Given the description of an element on the screen output the (x, y) to click on. 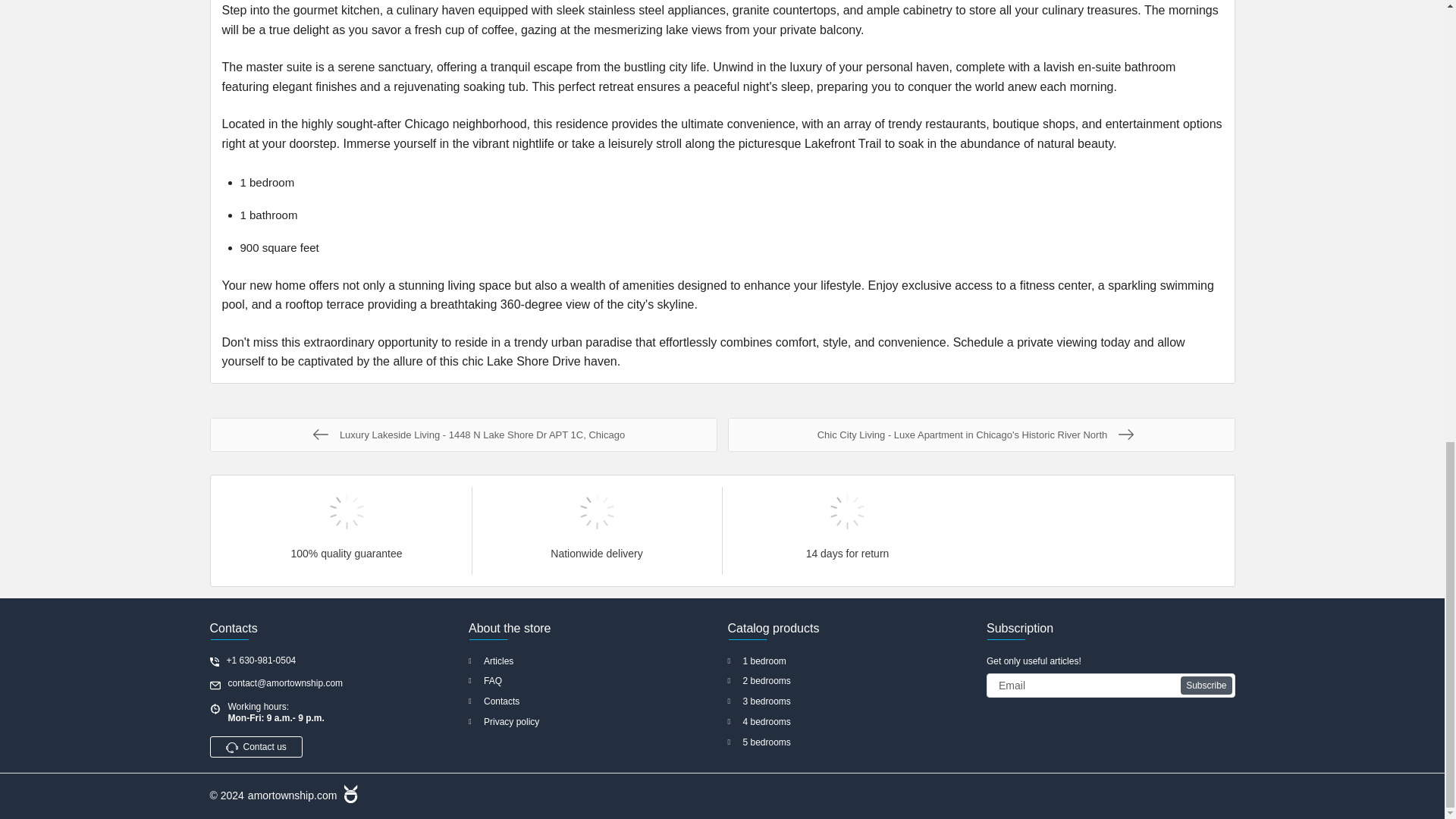
14 days for return (847, 511)
FAQ (592, 680)
2 bedrooms (852, 680)
Privacy policy (592, 721)
1 bedroom (852, 661)
Articles (592, 661)
4 bedrooms (852, 721)
3 bedrooms (852, 701)
